Given the description of an element on the screen output the (x, y) to click on. 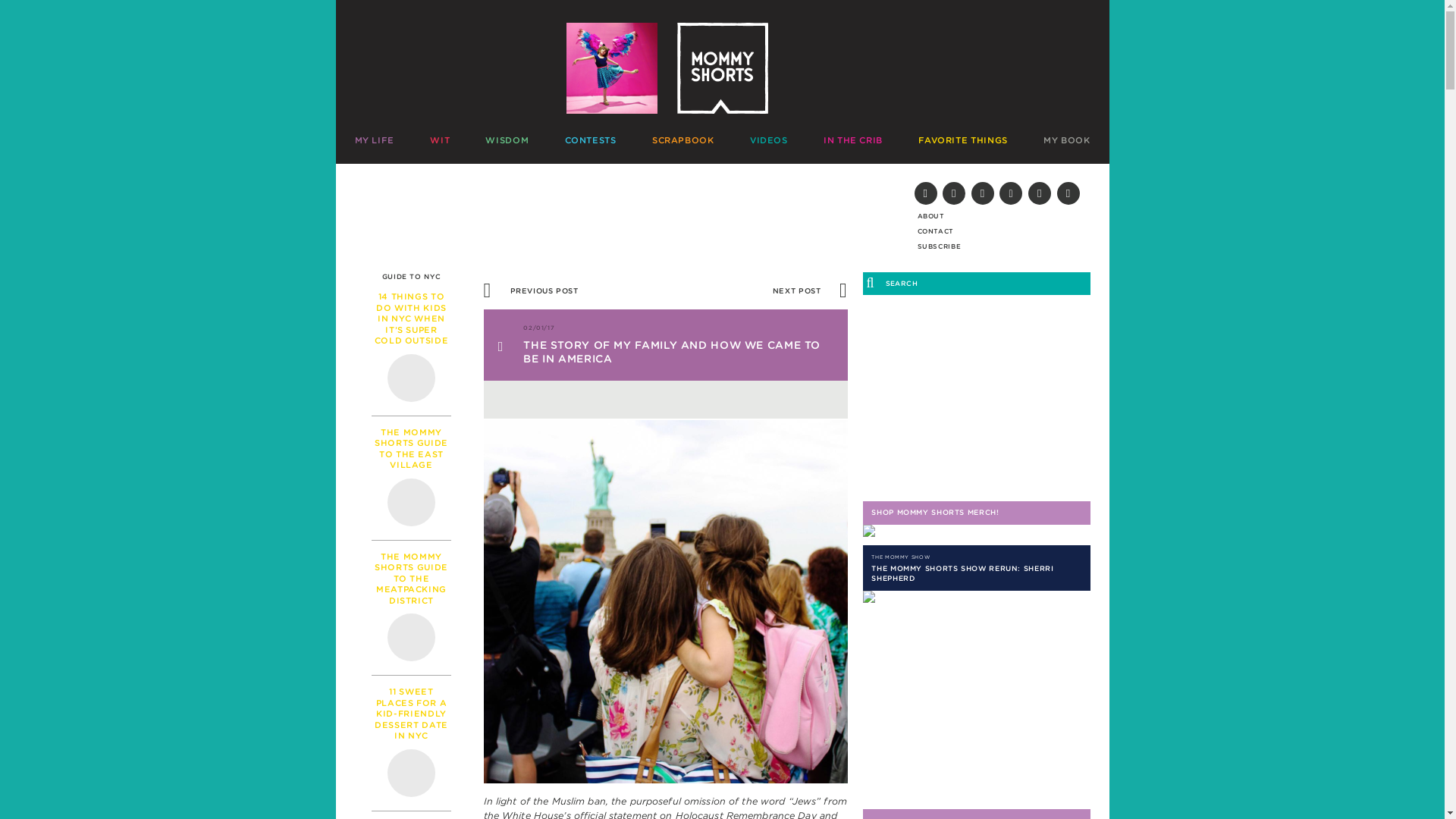
MY LIFE (381, 140)
WIT (439, 140)
WISDOM (506, 140)
Mommy Shorts (722, 67)
